Given the description of an element on the screen output the (x, y) to click on. 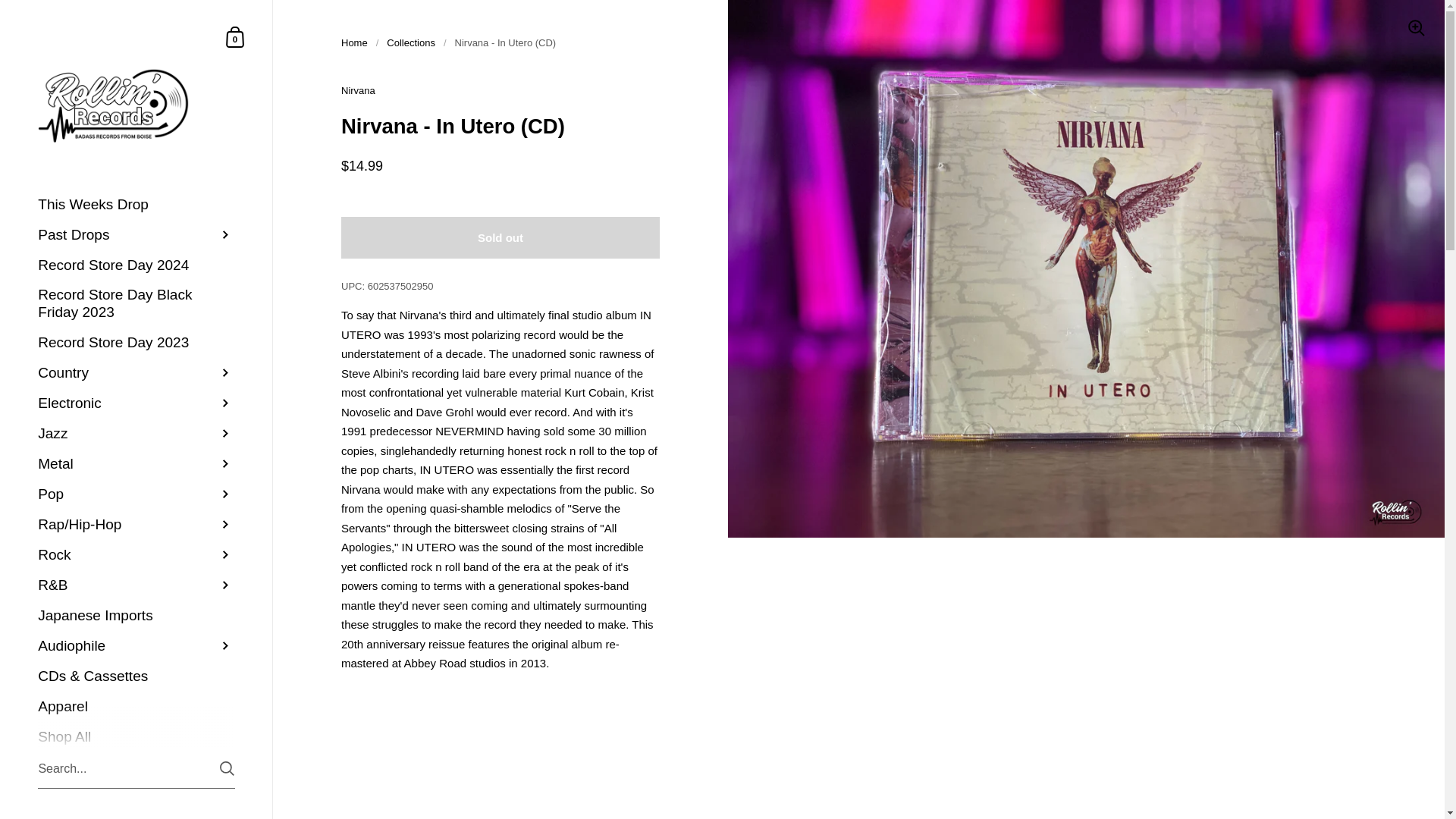
This Weeks Drop (235, 35)
Shopping Cart (136, 204)
Past Drops (235, 35)
